Given the description of an element on the screen output the (x, y) to click on. 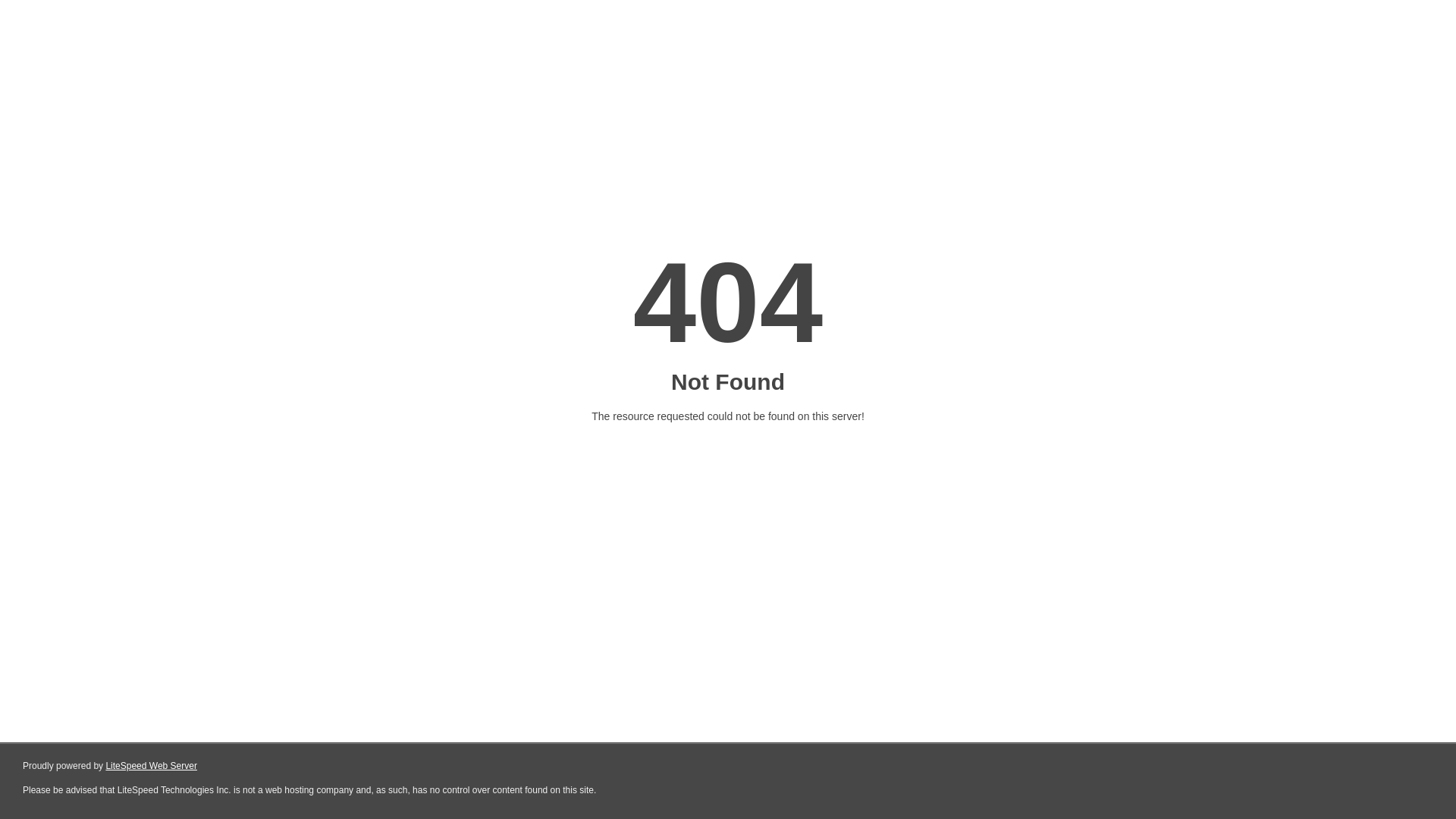
LiteSpeed Web Server Element type: text (151, 765)
